Given the description of an element on the screen output the (x, y) to click on. 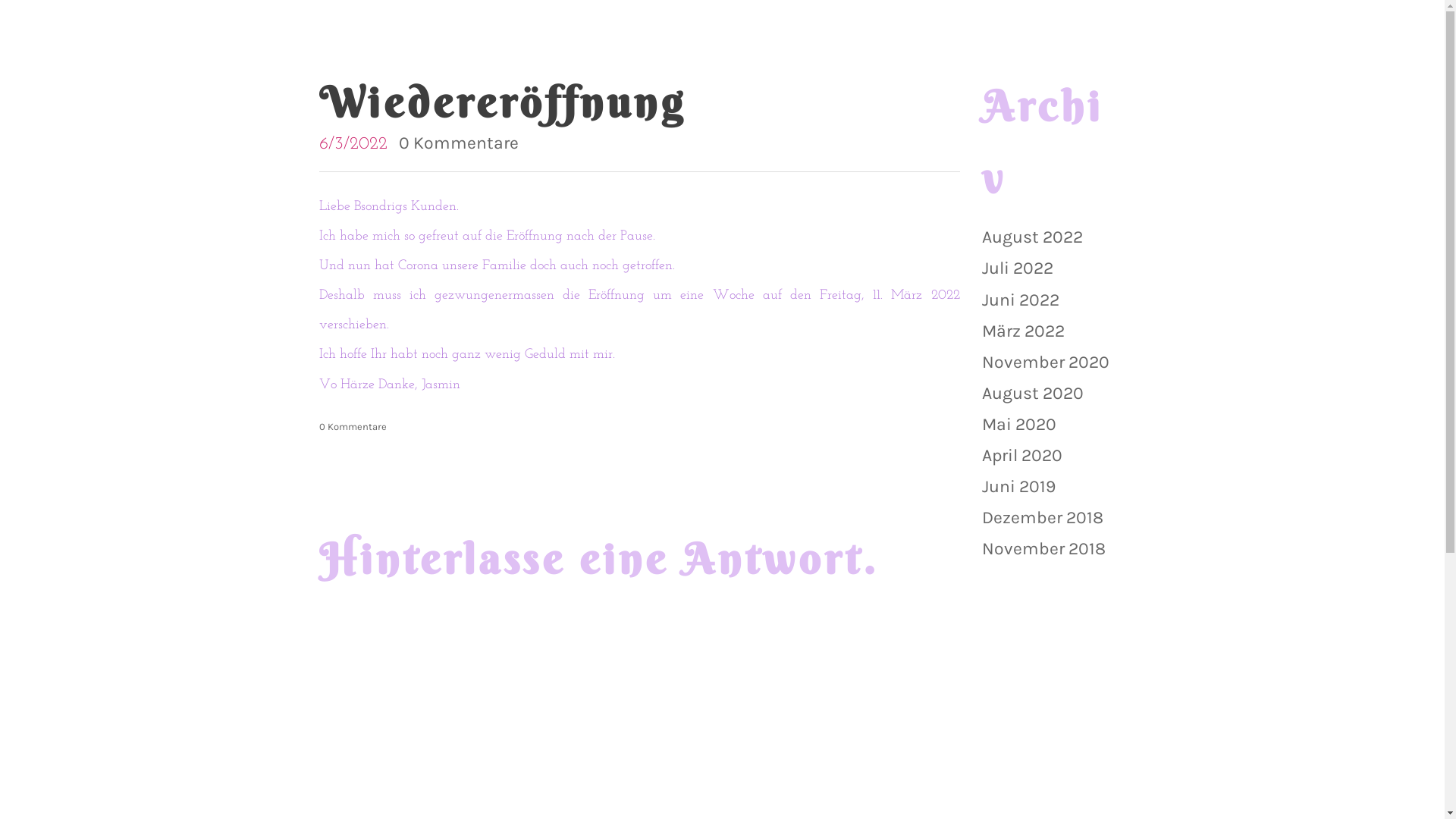
Juni 2019 Element type: text (1017, 486)
Dezember 2018 Element type: text (1041, 517)
Juli 2022 Element type: text (1016, 267)
0 Kommentare Element type: text (351, 426)
August 2020 Element type: text (1031, 392)
0 Kommentare Element type: text (458, 142)
Mai 2020 Element type: text (1018, 424)
November 2018 Element type: text (1042, 548)
Juni 2022 Element type: text (1019, 299)
April 2020 Element type: text (1021, 455)
August 2022 Element type: text (1031, 236)
November 2020 Element type: text (1044, 361)
